Given the description of an element on the screen output the (x, y) to click on. 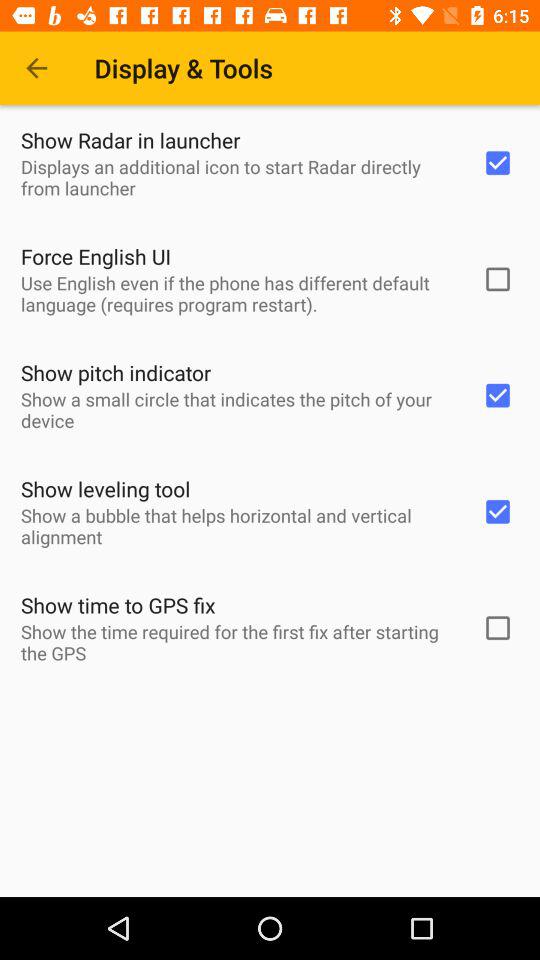
choose icon above the show radar in (36, 68)
